Given the description of an element on the screen output the (x, y) to click on. 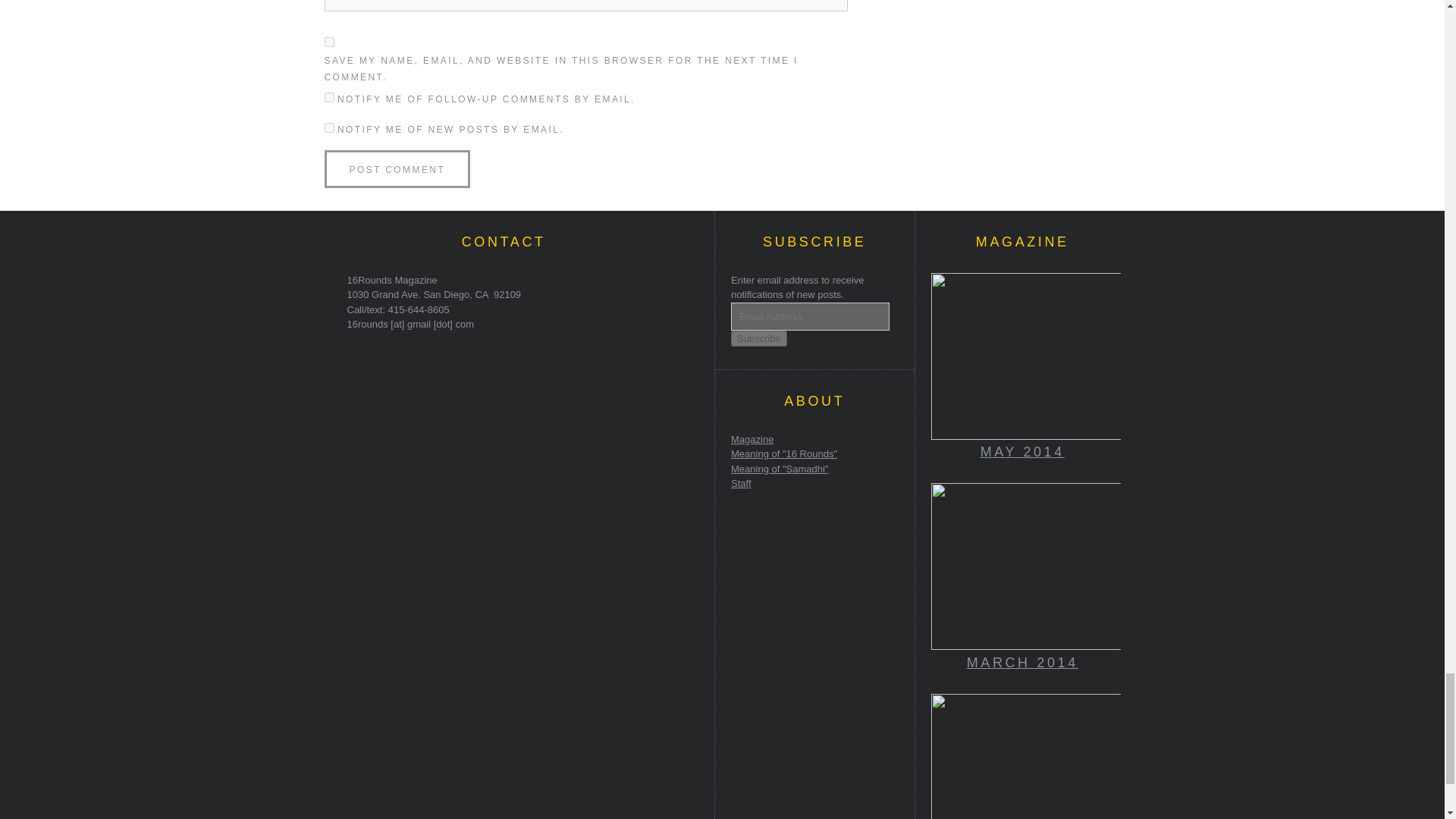
yes (329, 41)
subscribe (329, 97)
subscribe (329, 127)
Post Comment (397, 168)
